Given the description of an element on the screen output the (x, y) to click on. 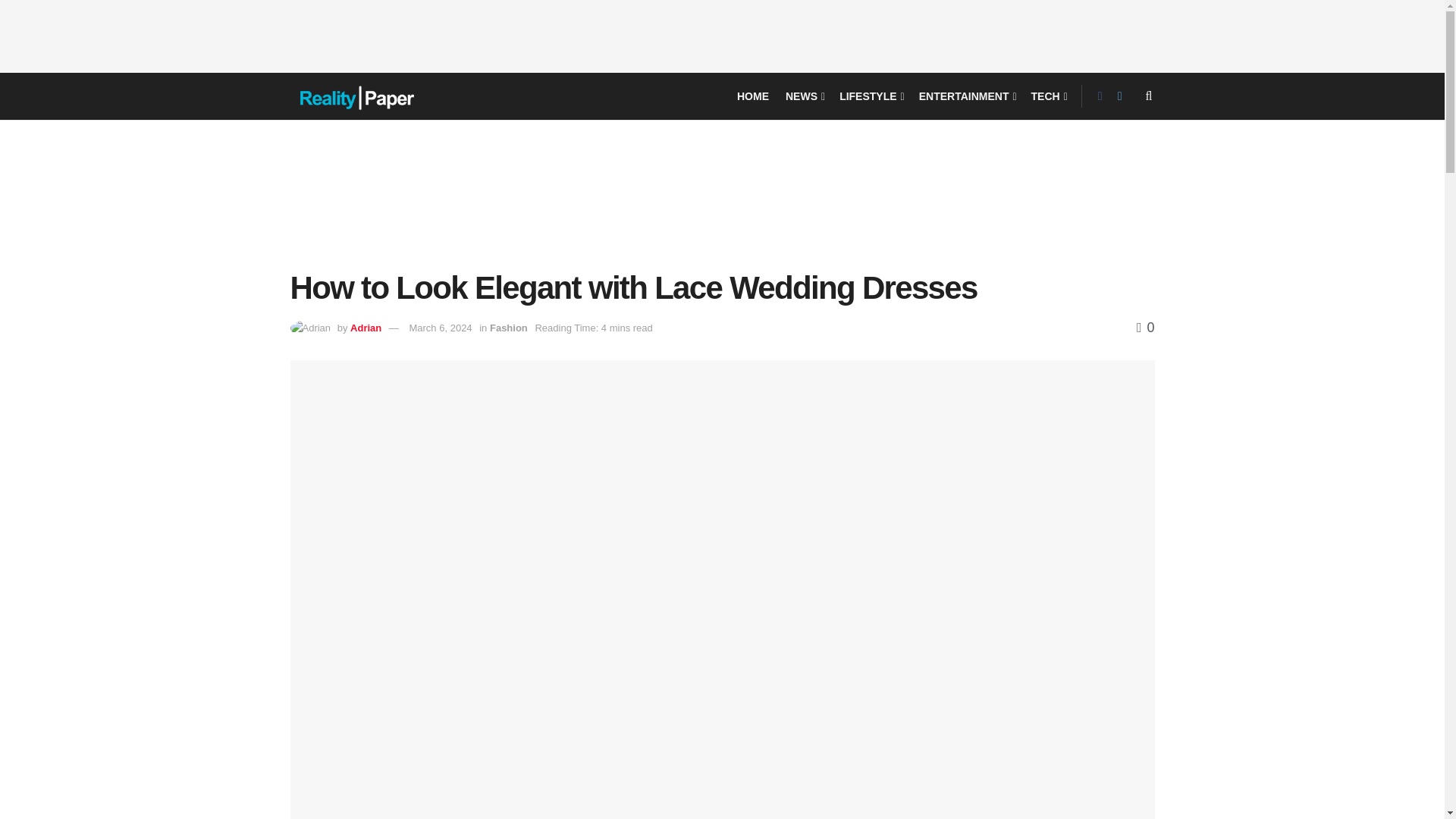
ENTERTAINMENT (966, 95)
LIFESTYLE (871, 95)
March 6, 2024 (440, 327)
TECH (1047, 95)
Adrian (365, 327)
Fashion (508, 327)
0 (1145, 327)
NEWS (804, 95)
